Given the description of an element on the screen output the (x, y) to click on. 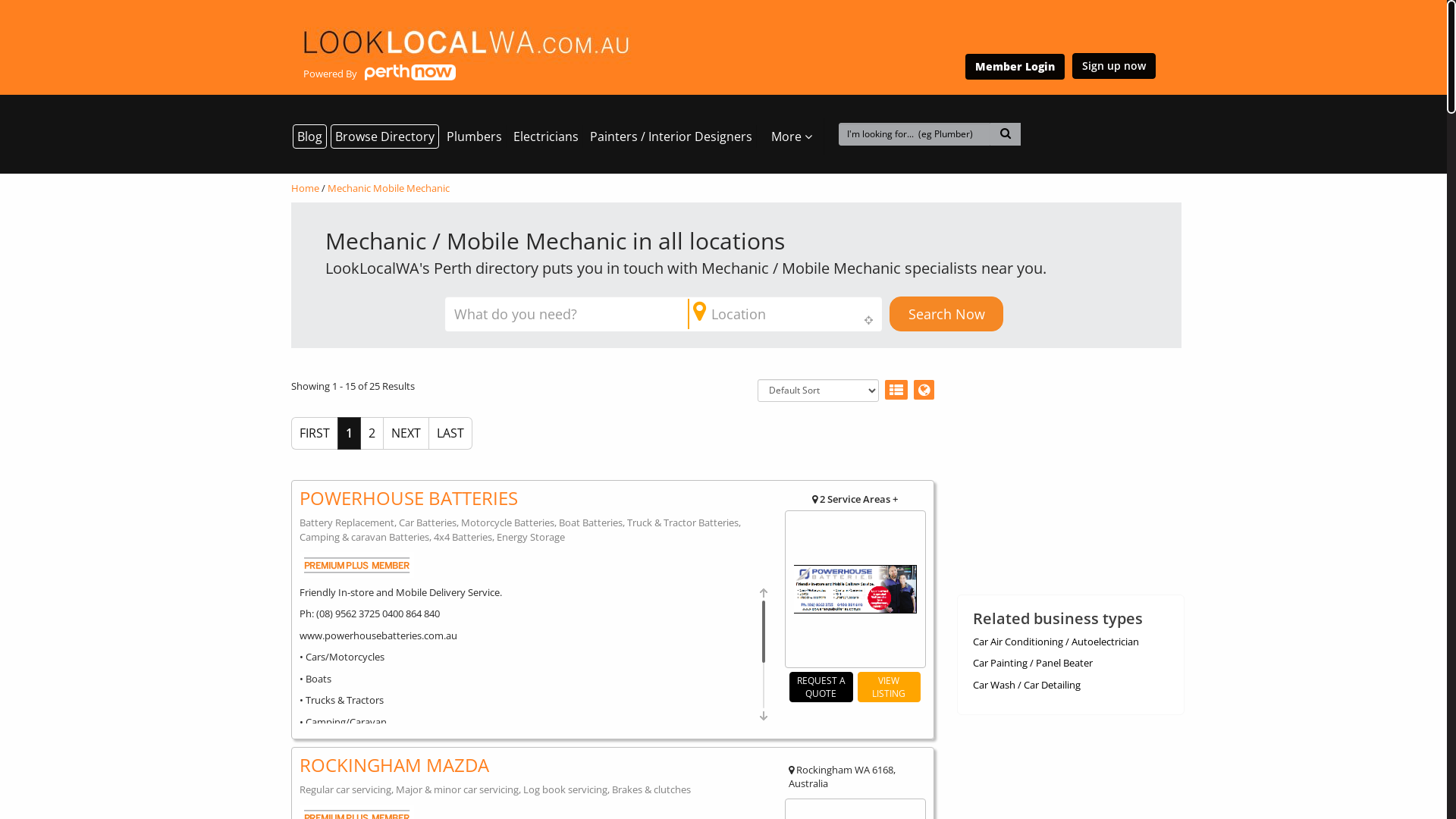
Electricians Element type: text (545, 136)
LookLocalWA Element type: hover (464, 43)
Search Now Element type: text (946, 313)
Member Login Element type: text (1014, 66)
LAST Element type: text (450, 433)
POWERHOUSE BATTERIES Element type: text (534, 515)
Powered By Element type: text (464, 57)
Blog Element type: text (309, 136)
Plumbers Element type: text (473, 136)
Car Painting / Panel Beater Element type: text (1032, 662)
Mechanic Mobile Mechanic Element type: text (388, 187)
Browse Directory Element type: text (384, 136)
FIRST Element type: text (314, 433)
Car Wash / Car Detailing Element type: text (1025, 684)
NEXT Element type: text (405, 433)
Sign up now Element type: text (1113, 65)
Painters / Interior Designers Element type: text (671, 136)
VIEW LISTING Element type: text (888, 686)
2 Element type: text (371, 433)
Home Element type: text (305, 187)
ROCKINGHAM MAZDA Element type: text (534, 775)
Use Current Location Element type: hover (868, 320)
Search Element type: text (75, 11)
POWERHOUSE BATTERIES Element type: hover (854, 588)
1 Element type: text (348, 433)
Car Air Conditioning / Autoelectrician Element type: text (1055, 641)
Category Badge Element type: hover (356, 564)
REQUEST A QUOTE Element type: text (821, 686)
More Element type: text (791, 136)
